Given the description of an element on the screen output the (x, y) to click on. 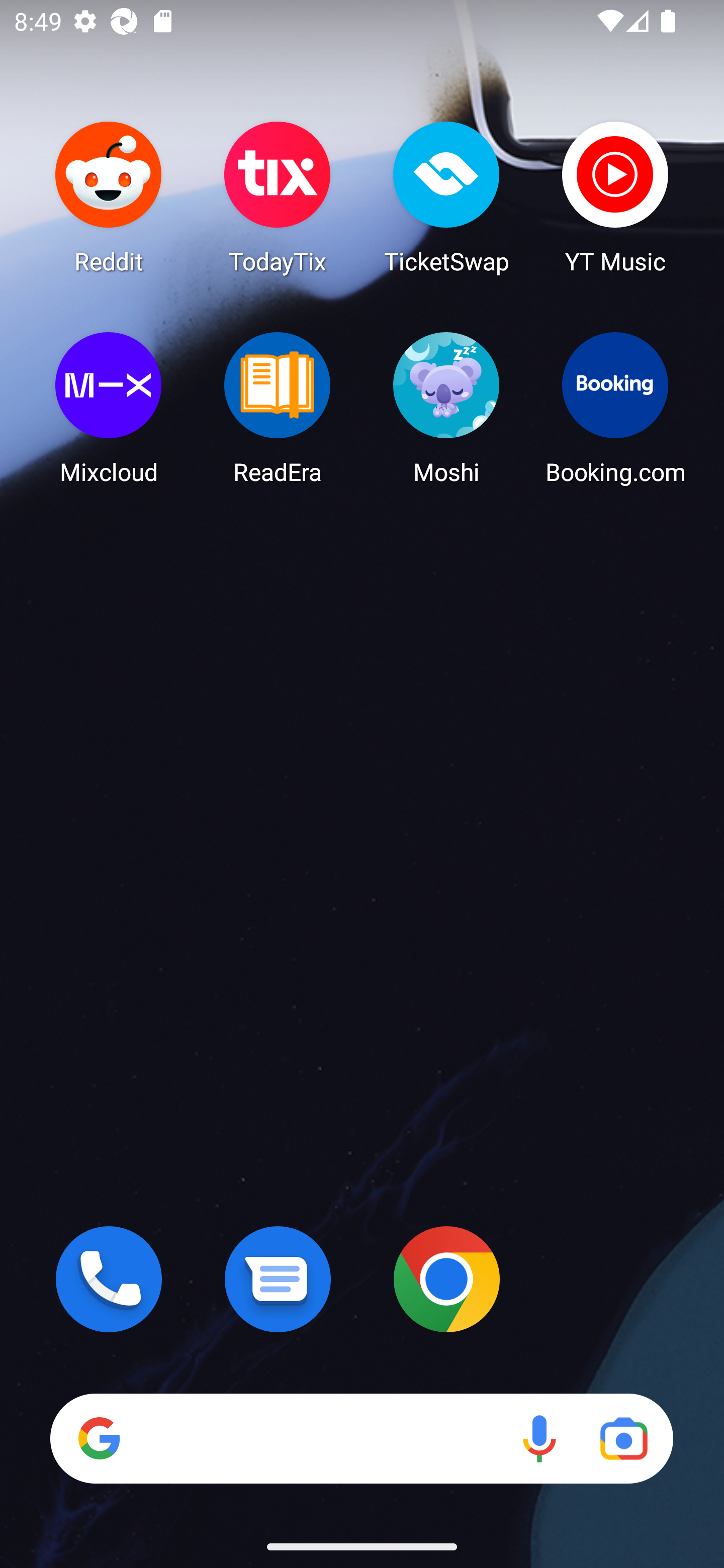
Reddit (108, 196)
TodayTix (277, 196)
TicketSwap (445, 196)
YT Music (615, 196)
Mixcloud (108, 407)
ReadEra (277, 407)
Moshi (445, 407)
Booking.com (615, 407)
Phone (108, 1279)
Messages (277, 1279)
Chrome (446, 1279)
Search Voice search Google Lens (361, 1438)
Voice search (539, 1438)
Google Lens (623, 1438)
